Given the description of an element on the screen output the (x, y) to click on. 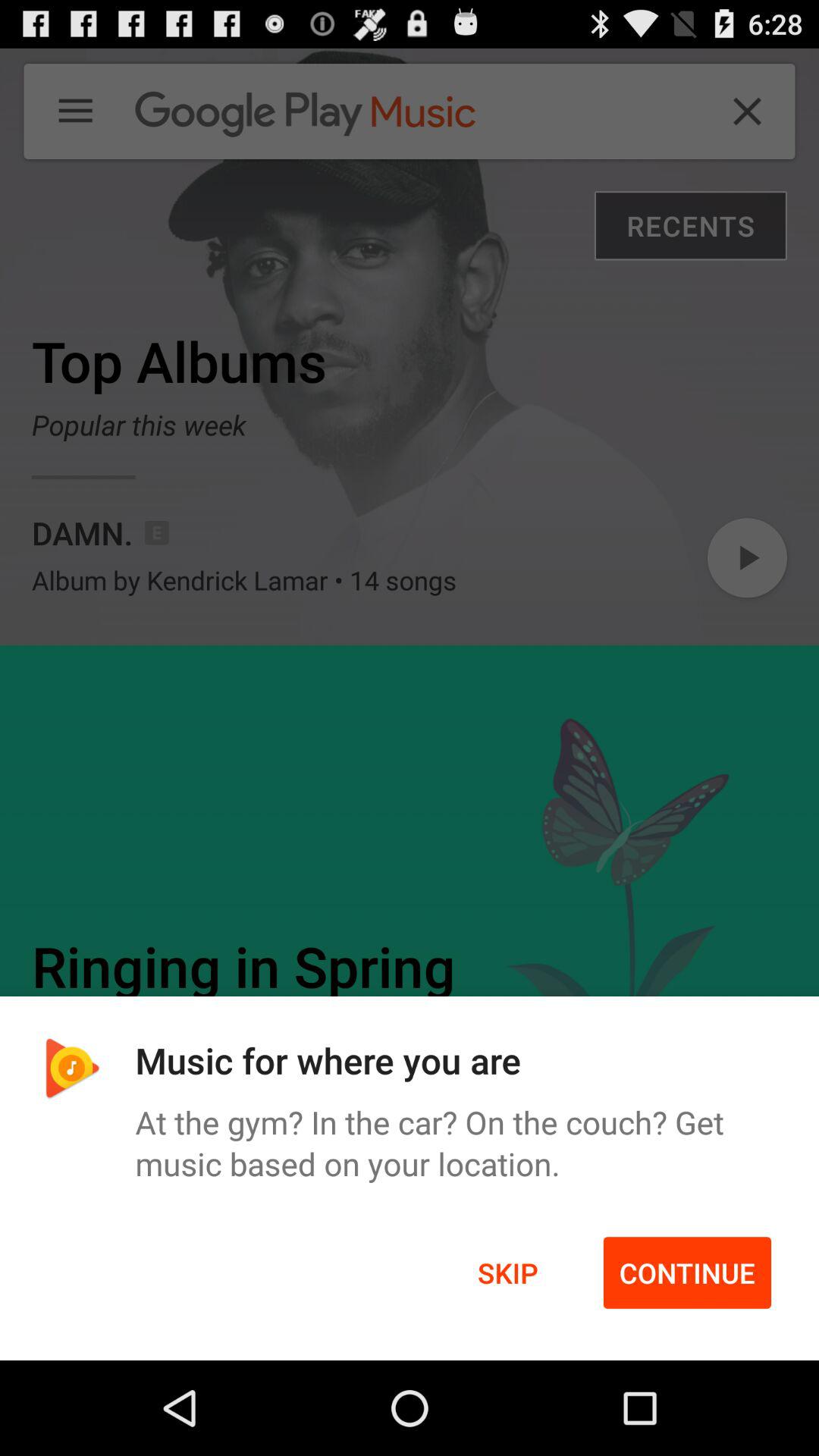
select icon at the center (409, 703)
